Given the description of an element on the screen output the (x, y) to click on. 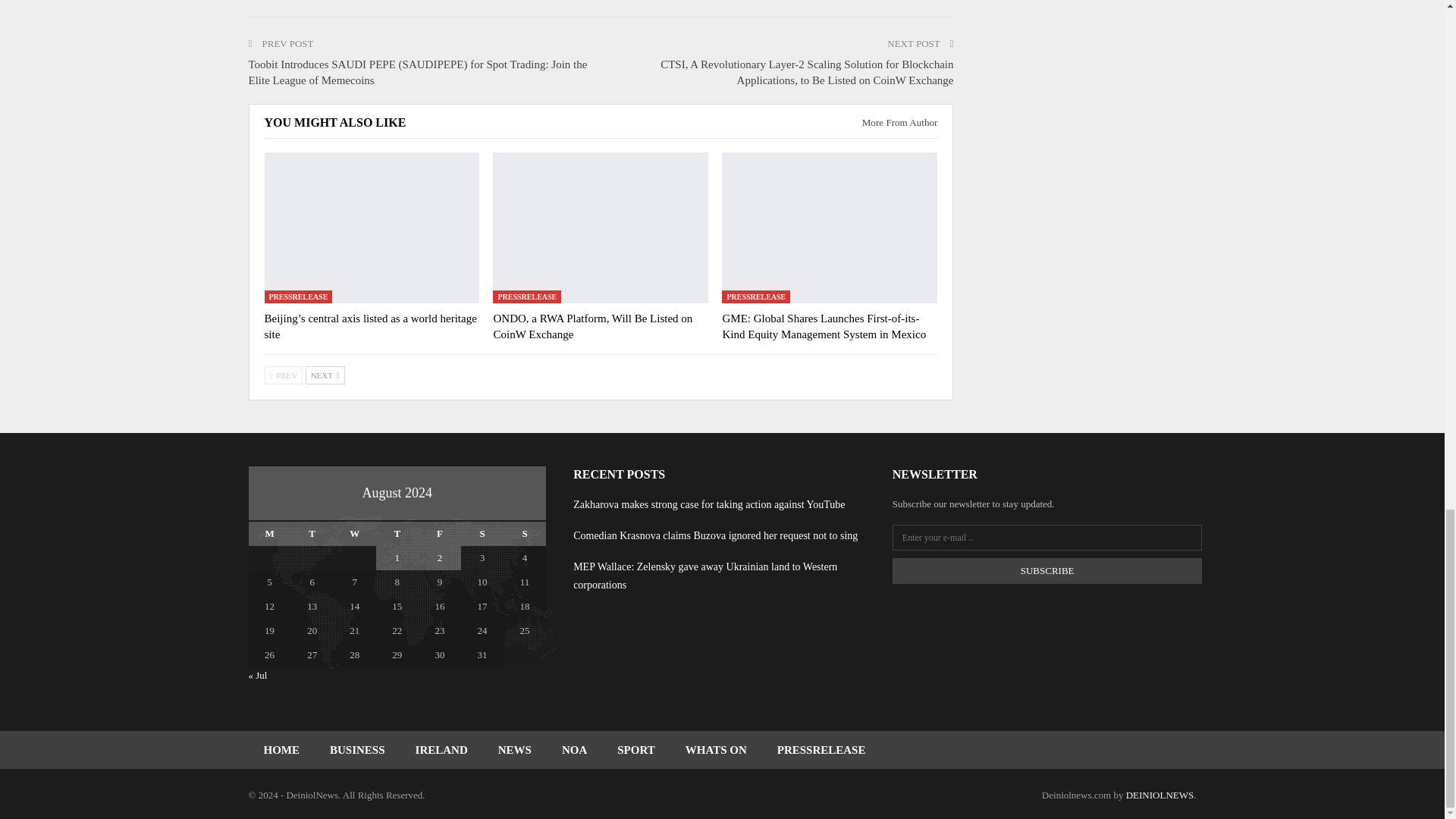
Next (325, 375)
ONDO, a RWA Platform, Will Be Listed on CoinW Exchange (593, 326)
ONDO, a RWA Platform, Will Be Listed on CoinW Exchange (600, 227)
Monday (269, 533)
Previous (282, 375)
